Given the description of an element on the screen output the (x, y) to click on. 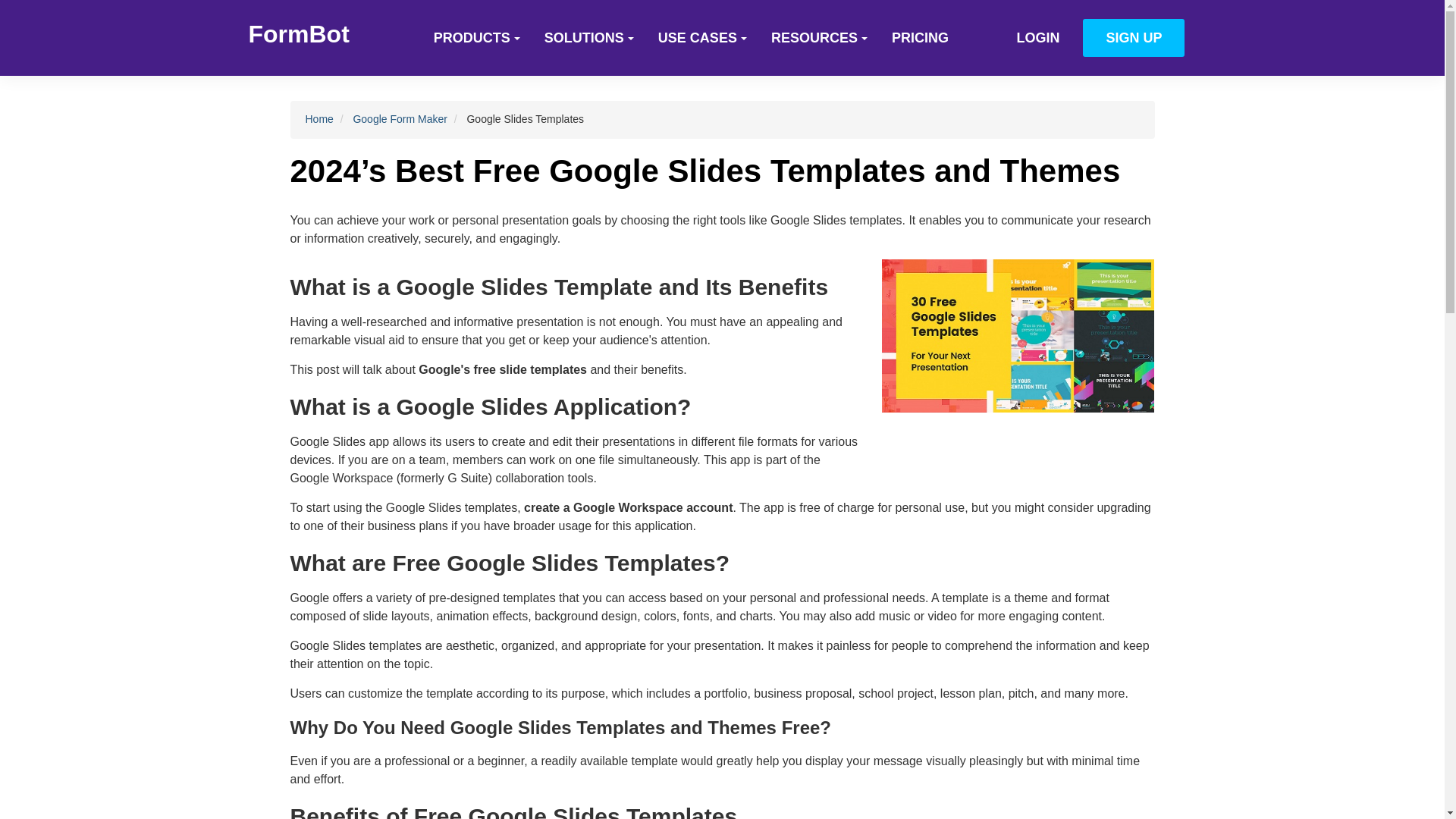
Google Form Maker (399, 119)
USE CASES (702, 37)
Home (318, 119)
SIGN UP (1134, 37)
LOGIN (1037, 37)
SOLUTIONS (589, 37)
FormBot (298, 33)
PRICING (919, 37)
PRODUCTS (477, 37)
RESOURCES (818, 37)
